Given the description of an element on the screen output the (x, y) to click on. 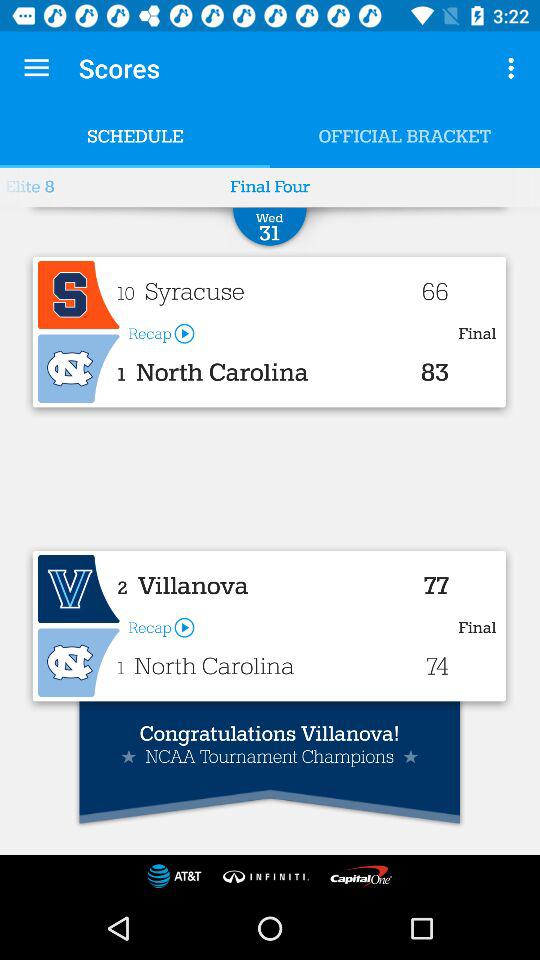
choose the first star icon (129, 756)
choose the icon below s icon (78, 369)
click on the image left to 10 (78, 295)
click on three dots below time (514, 68)
